Given the description of an element on the screen output the (x, y) to click on. 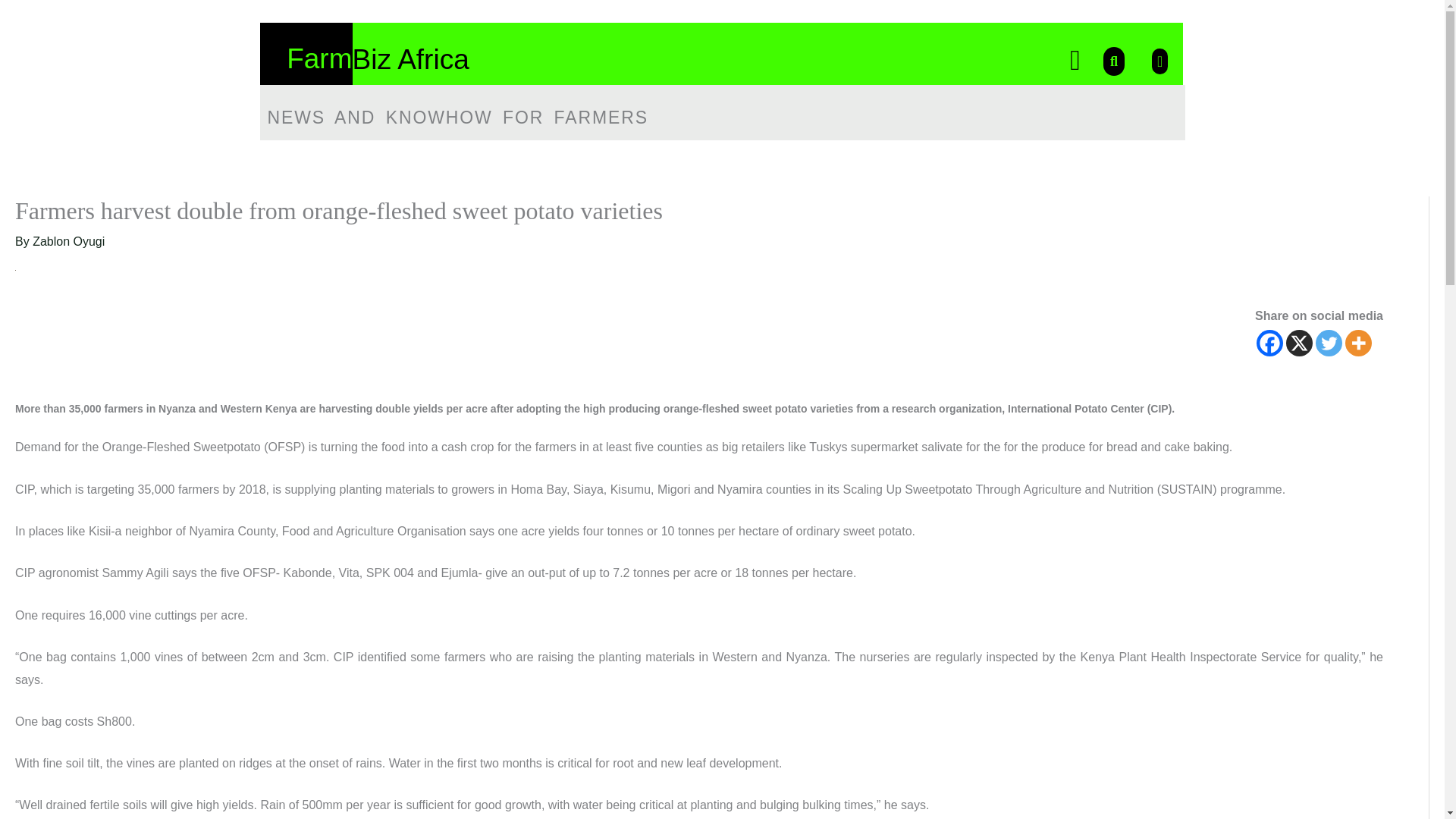
More (1358, 343)
Biz Africa (410, 59)
View all posts by Zablon Oyugi (68, 241)
Farm (319, 58)
X (1299, 343)
Facebook (1269, 343)
Zablon Oyugi (68, 241)
Twitter (1329, 343)
